Given the description of an element on the screen output the (x, y) to click on. 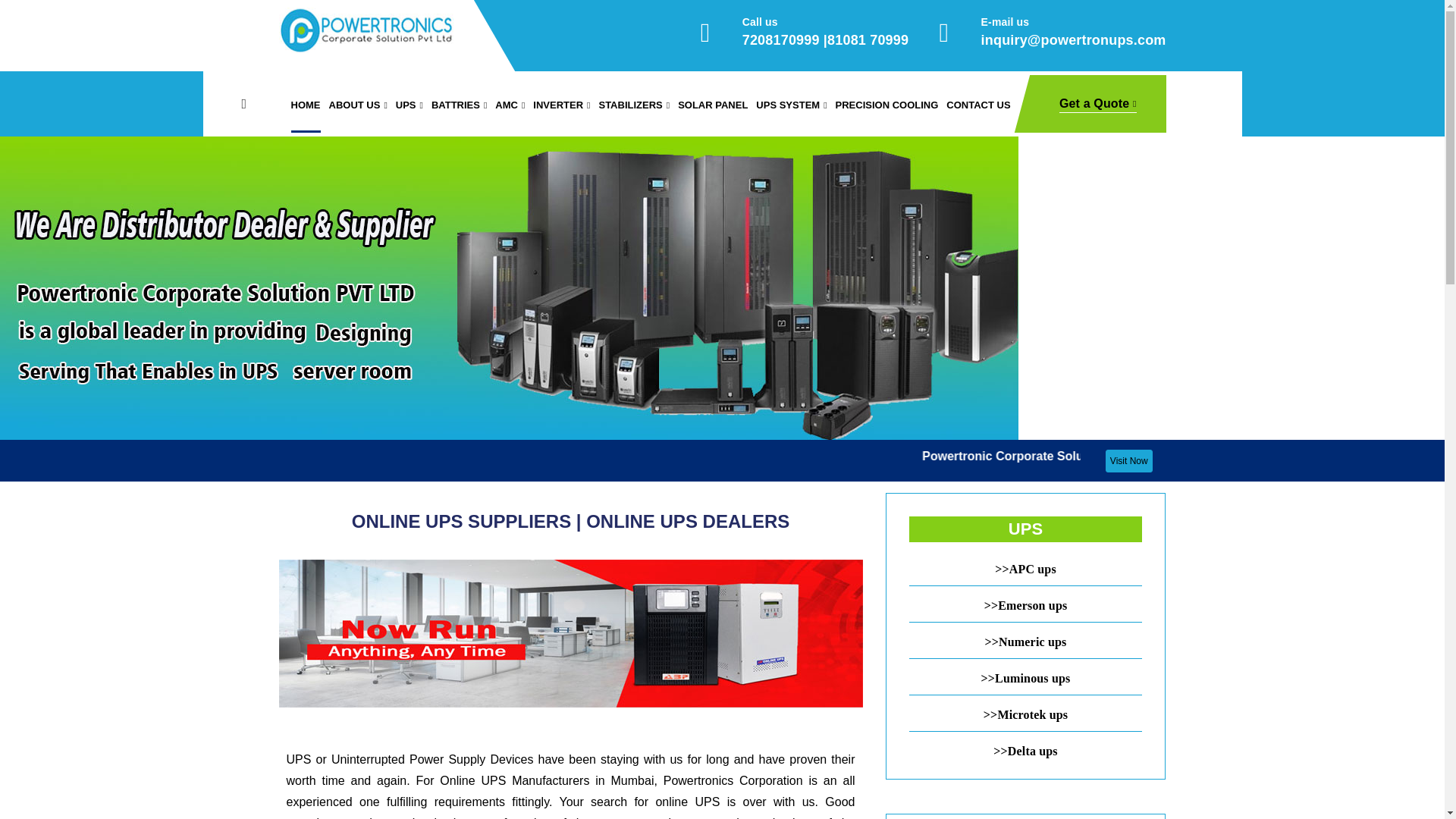
7208170999 (780, 39)
UPS SYSTEM (791, 104)
SOLAR PANEL (713, 104)
BATTRIES (458, 104)
ABOUT US (358, 104)
UPS (409, 104)
HOME (305, 104)
INVERTER (560, 104)
STABILIZERS (633, 104)
AMC (509, 104)
